Given the description of an element on the screen output the (x, y) to click on. 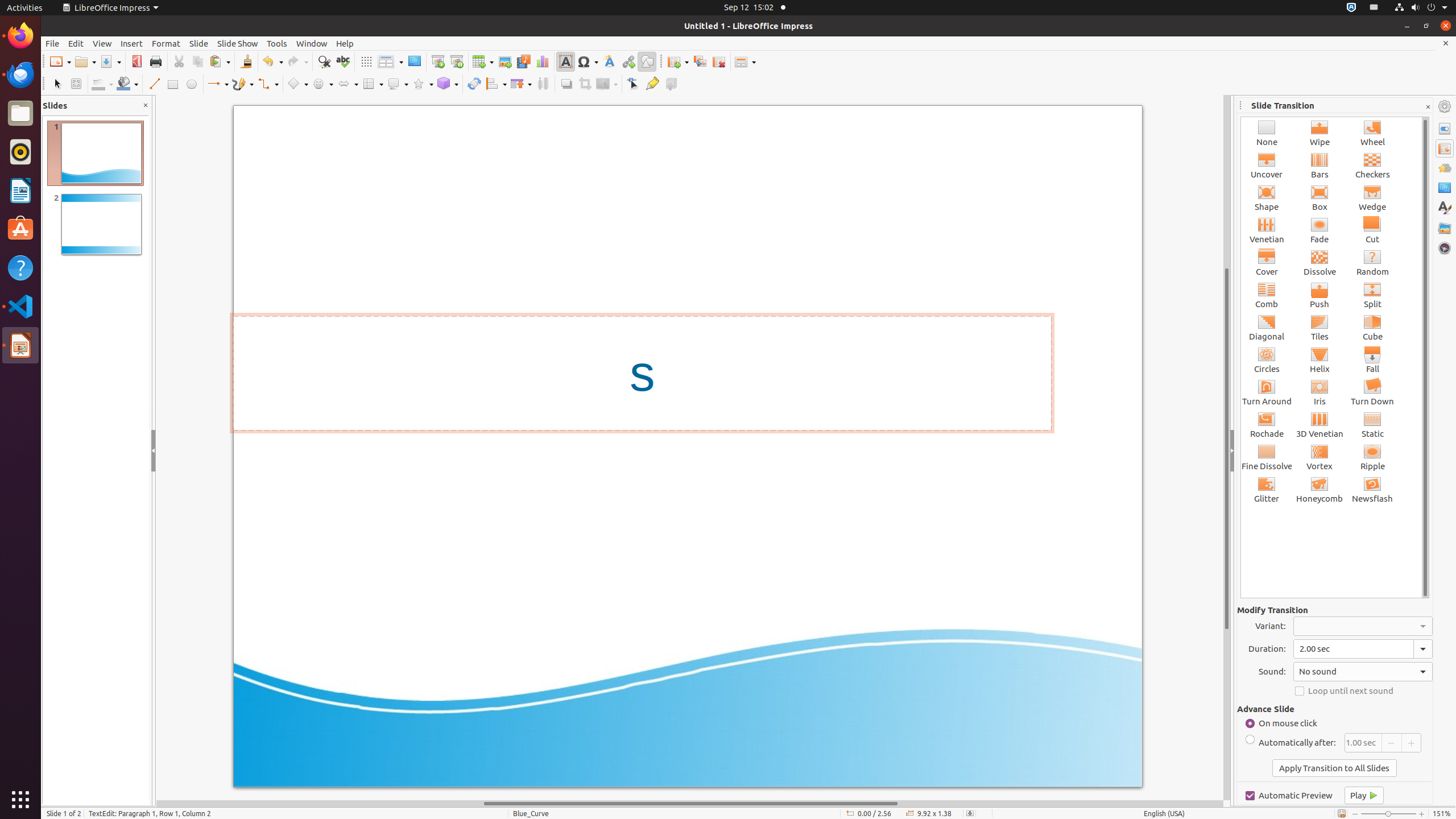
:1.21/StatusNotifierItem Element type: menu (1373, 7)
Zoom & Pan Element type: push-button (75, 83)
Split Element type: list-item (1372, 294)
Vertical scroll bar Element type: scroll-bar (1226, 447)
Symbol Shapes Element type: push-button (321, 83)
